Given the description of an element on the screen output the (x, y) to click on. 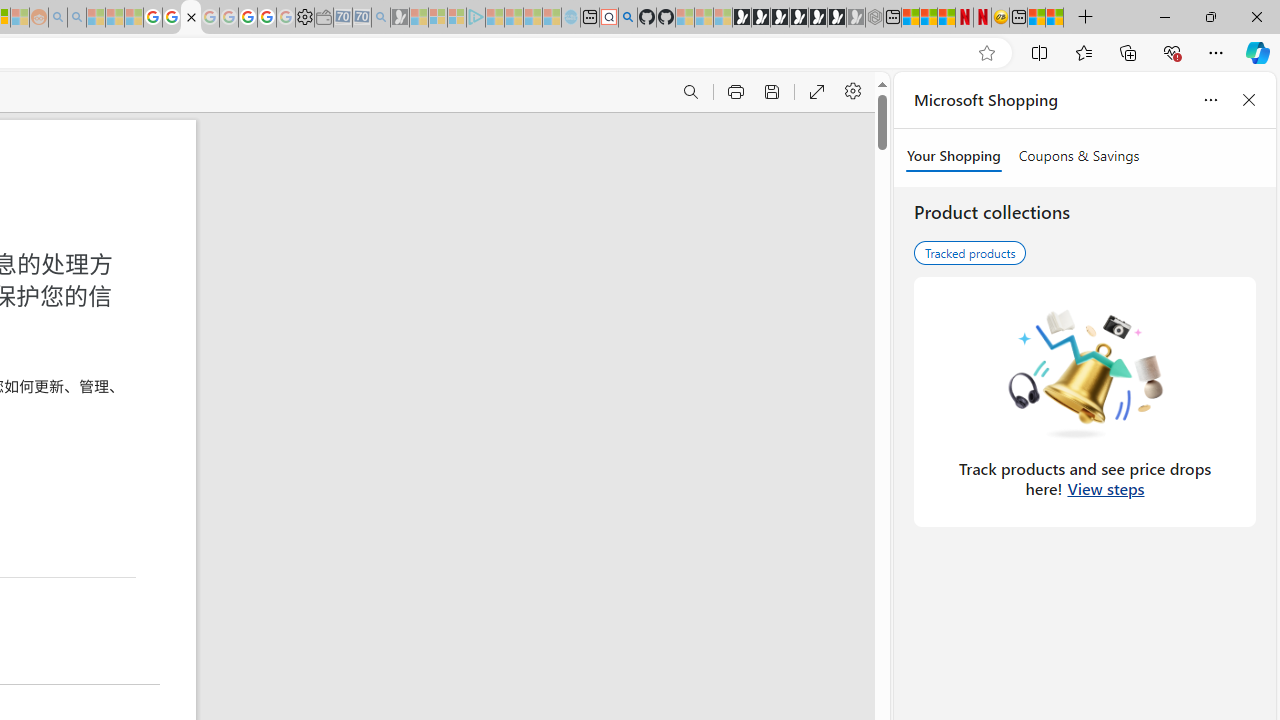
Save (Ctrl+S) (770, 92)
Print (Ctrl+P) (734, 92)
Find (Ctrl + F) (690, 92)
